Given the description of an element on the screen output the (x, y) to click on. 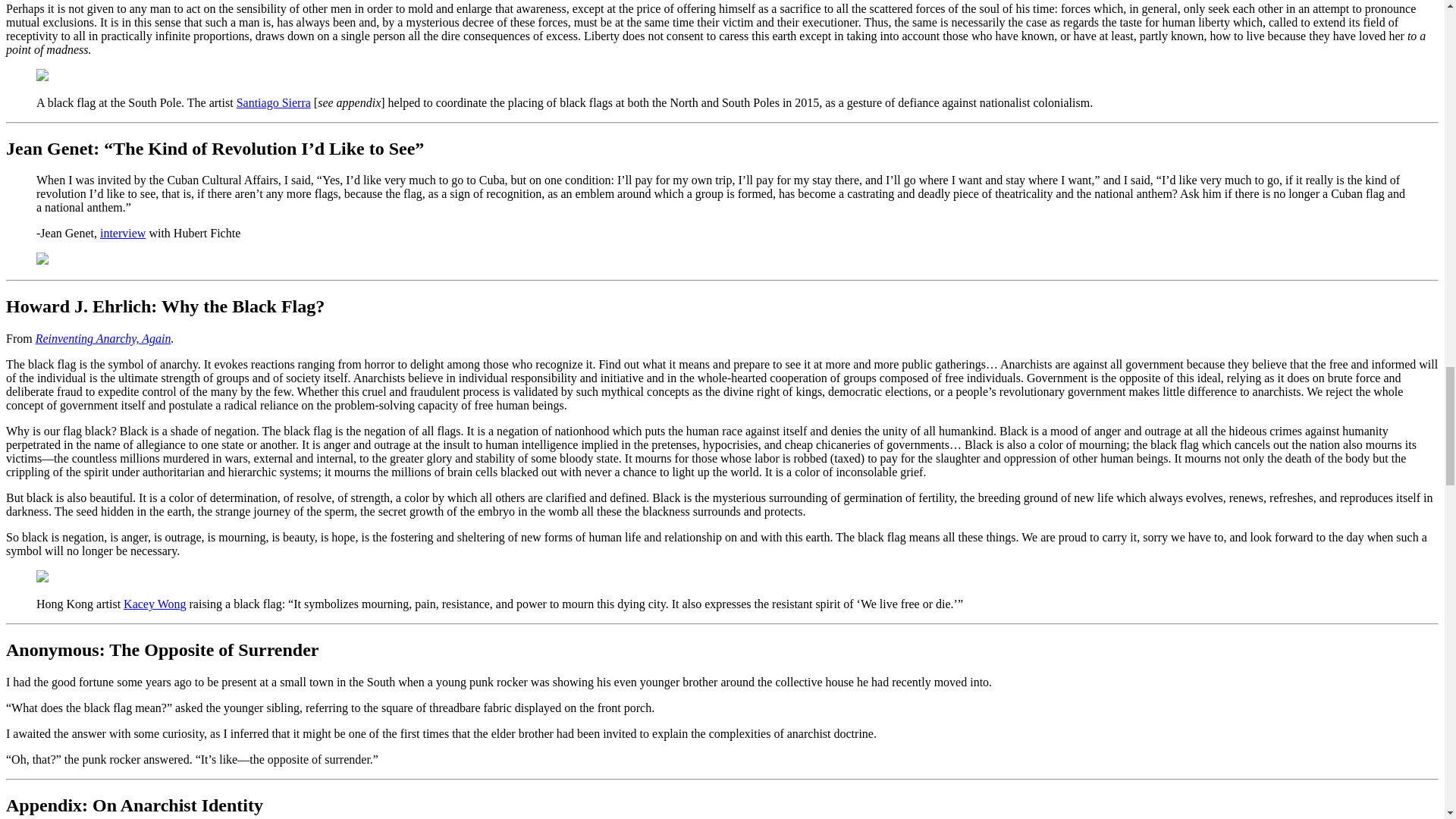
Santiago Sierra (273, 102)
Reinventing Anarchy, Again (102, 338)
interview (122, 232)
Kacey Wong (154, 603)
